Given the description of an element on the screen output the (x, y) to click on. 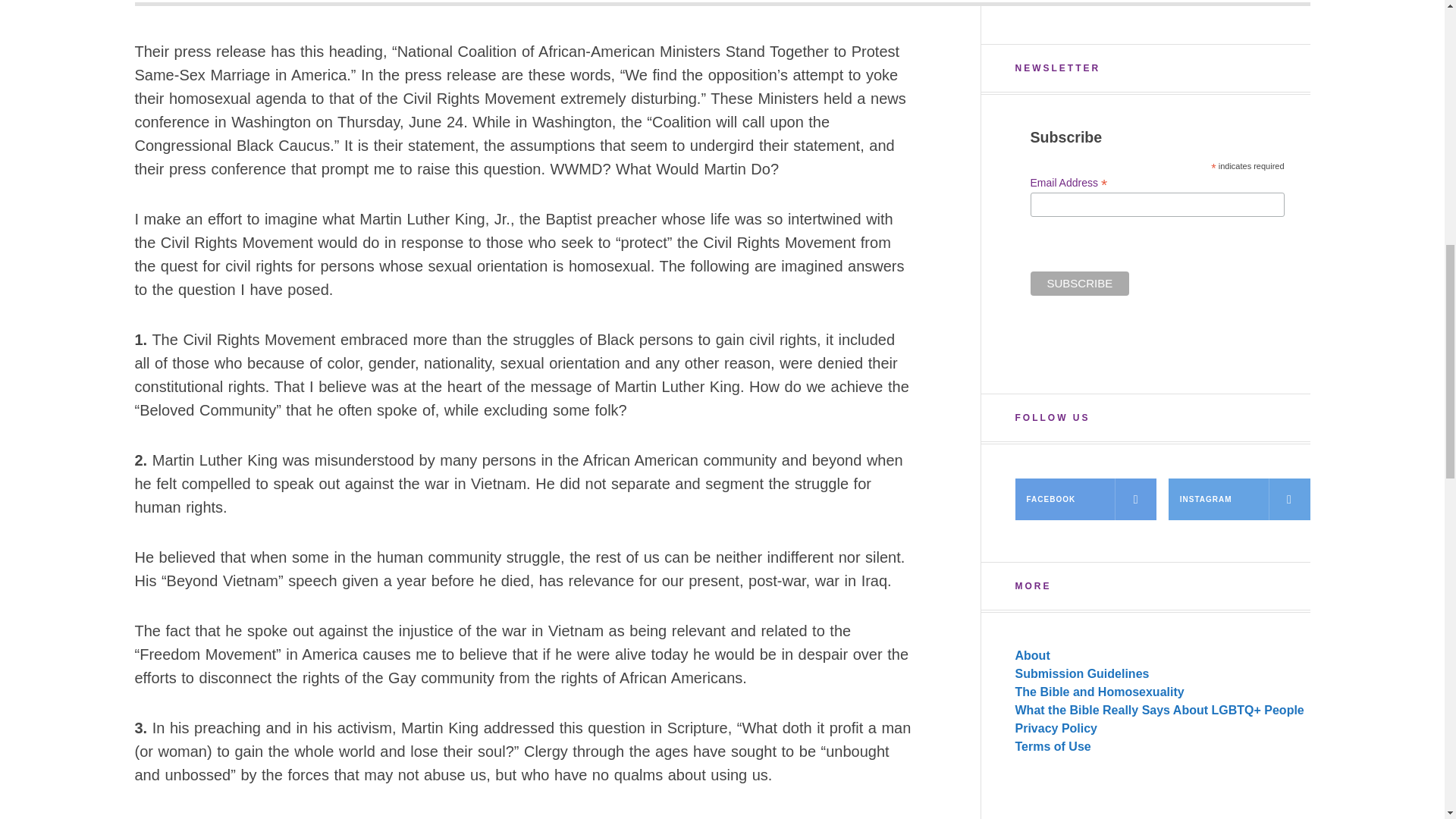
The Bible and Homosexuality (1098, 691)
Submission Guidelines (1081, 673)
INSTAGRAM (1239, 499)
The Bible and Homosexuality (1098, 691)
About (1031, 655)
Subscribe (1079, 283)
Submission Guidelines (1081, 673)
FACEBOOK (1085, 499)
Subscribe (1079, 283)
Privacy Policy (1055, 727)
Terms of Use (1052, 746)
Terms of Use (1052, 746)
Privacy Policy (1055, 727)
About (1031, 655)
